Given the description of an element on the screen output the (x, y) to click on. 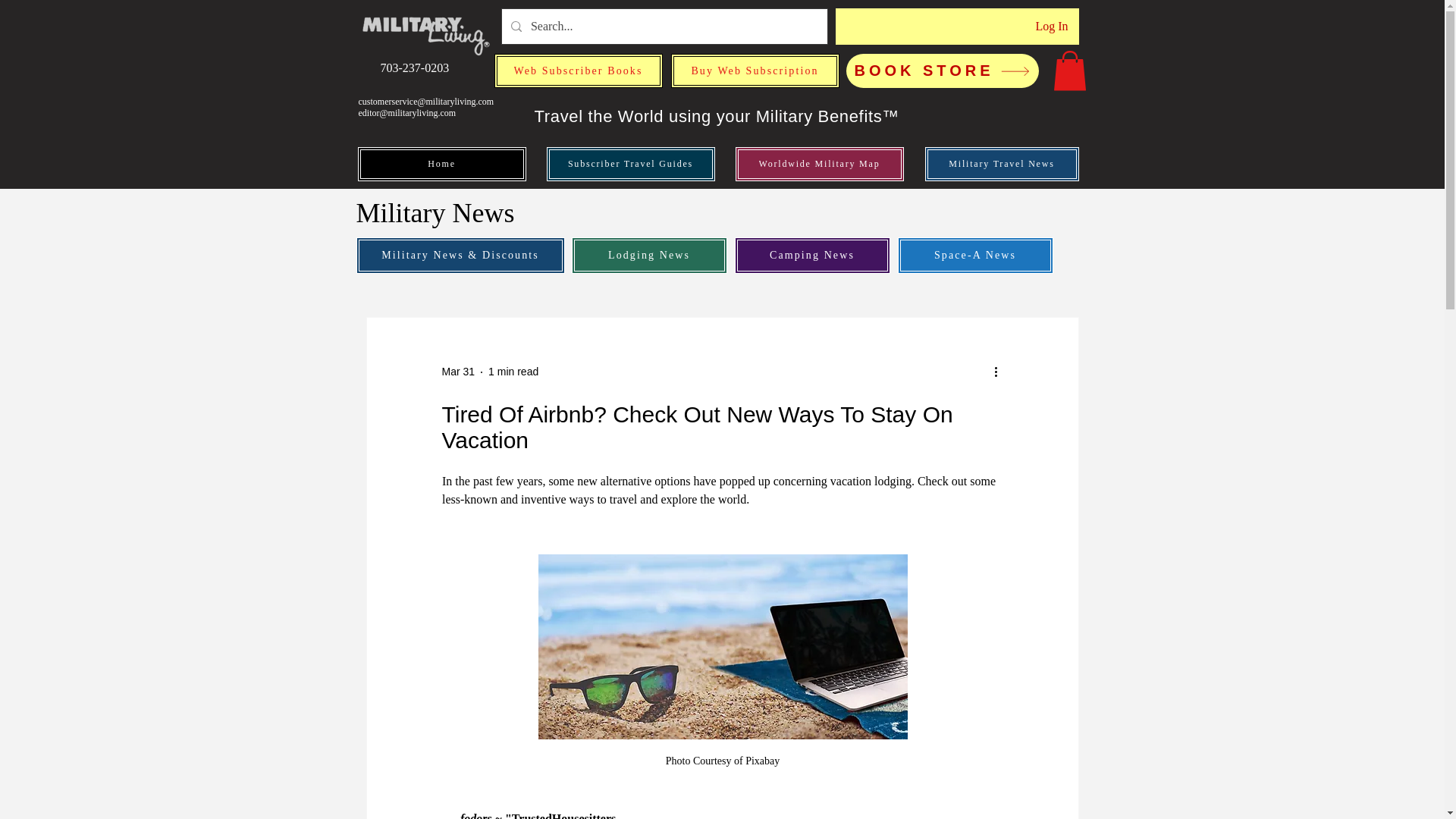
Military News  (438, 213)
Buy Web Subscription (753, 70)
1 min read (512, 371)
Space-A News (975, 255)
Subscriber Travel Guides (630, 163)
Home (441, 163)
Lodging News (649, 255)
Military Travel News (1001, 163)
Web Subscriber Books (578, 70)
Log In (1051, 26)
Mar 31 (457, 371)
Worldwide Military Map (819, 163)
BOOK STORE (942, 70)
Camping News (811, 255)
